Given the description of an element on the screen output the (x, y) to click on. 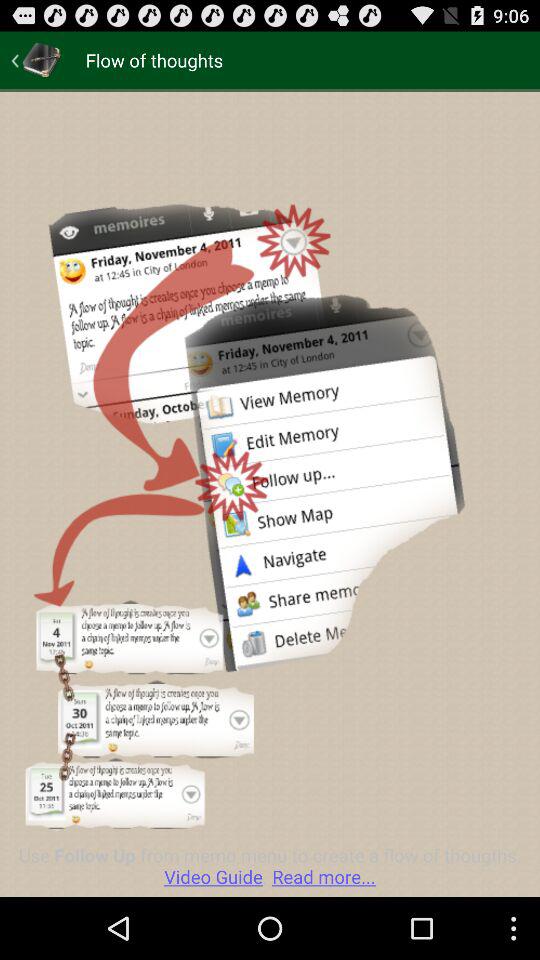
go back (36, 60)
